Given the description of an element on the screen output the (x, y) to click on. 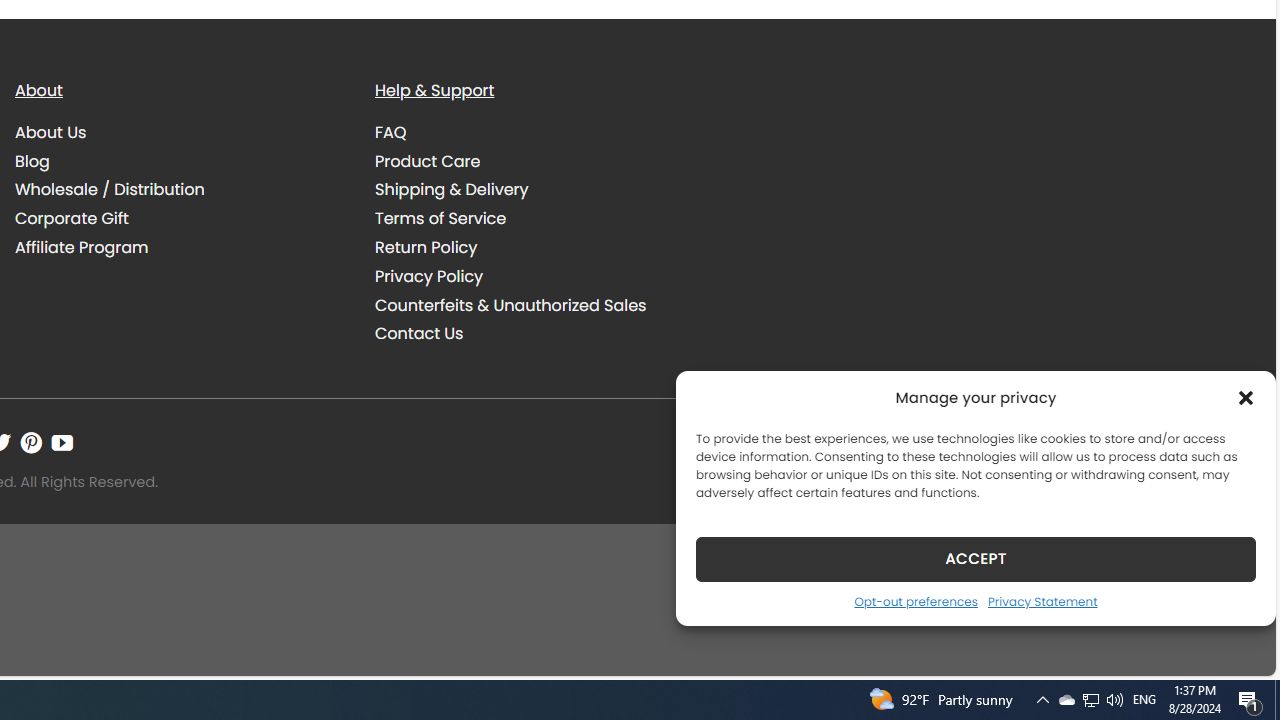
ACCEPT (975, 558)
Corporate Gift (180, 218)
Terms of Service (440, 219)
Product Care (540, 161)
Blog (180, 161)
Wholesale / Distribution (109, 189)
Privacy Policy (429, 276)
Wholesale / Distribution (180, 190)
Affiliate Program (180, 247)
About Us (51, 132)
Opt-out preferences (915, 601)
Return Policy (540, 247)
Follow on Pinterest (31, 442)
Counterfeits & Unauthorized Sales (510, 304)
Counterfeits & Unauthorized Sales (540, 305)
